Given the description of an element on the screen output the (x, y) to click on. 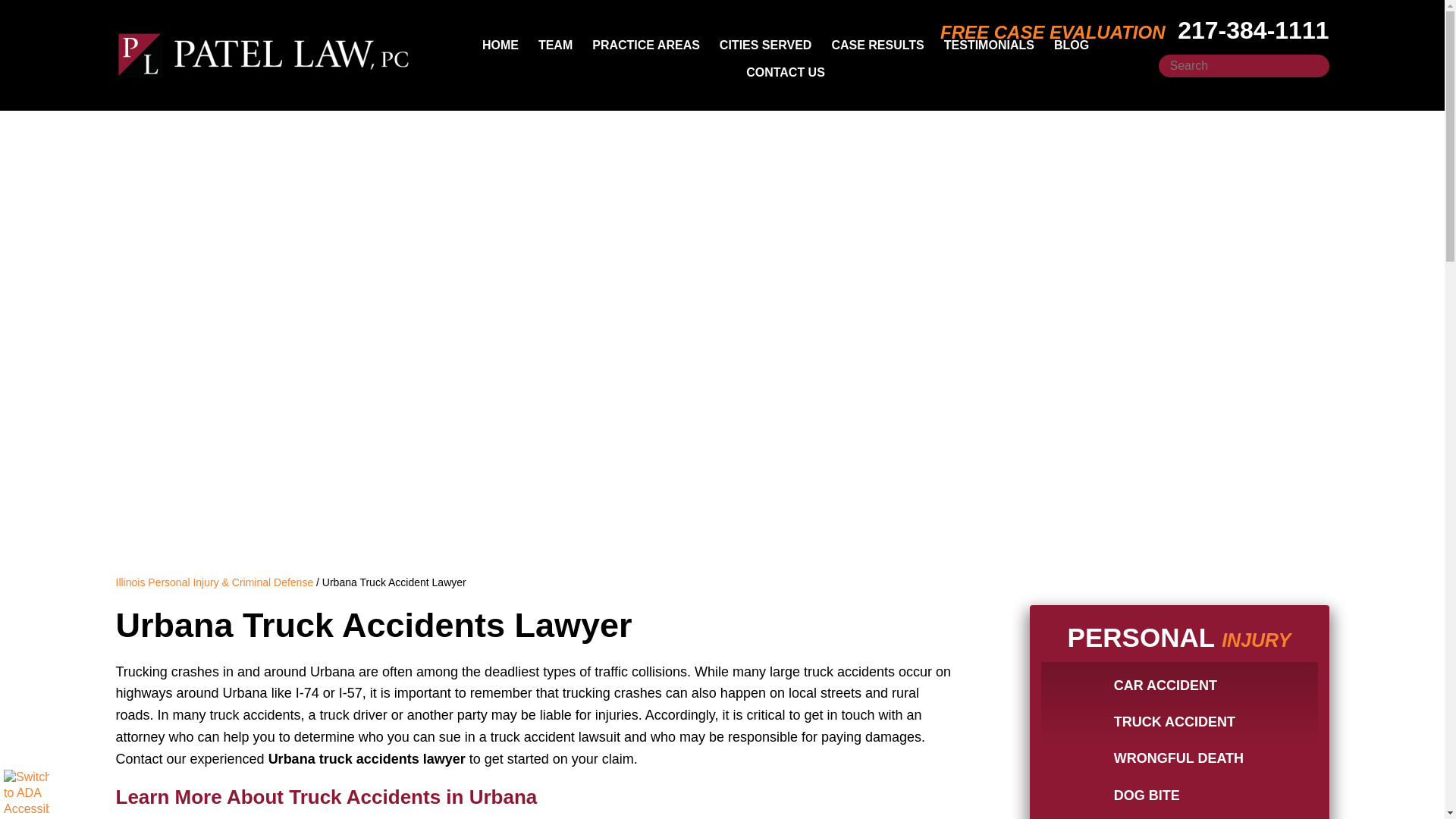
TEAM (555, 44)
HOME (499, 44)
Submit (1311, 65)
Switch to ADA Accessible Theme (26, 791)
PRACTICE AREAS (646, 44)
